Given the description of an element on the screen output the (x, y) to click on. 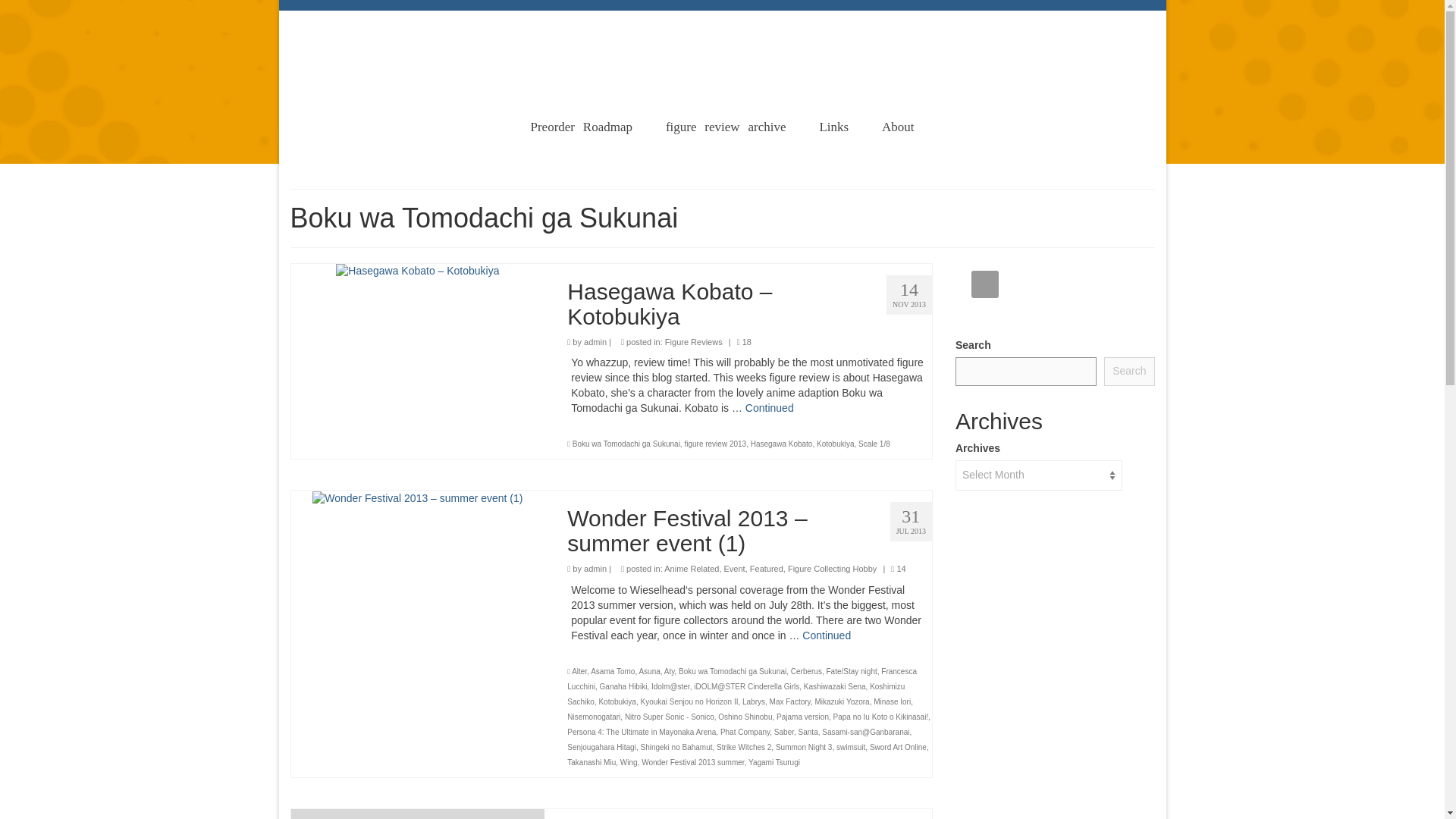
wieselhead.de (724, 32)
Links (833, 127)
Preorder Roadmap (581, 127)
figure review archive (726, 127)
About (898, 127)
